Given the description of an element on the screen output the (x, y) to click on. 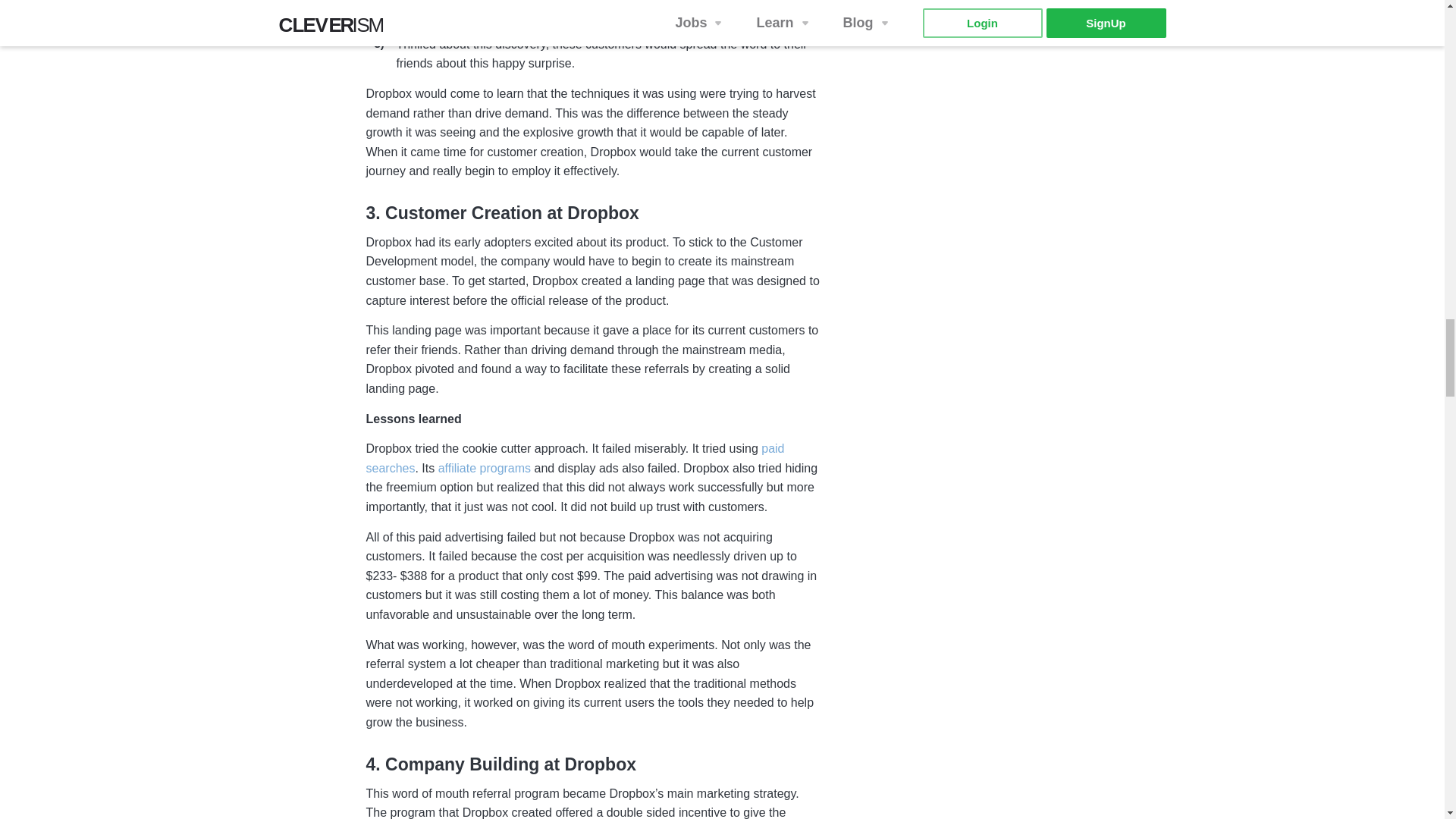
affiliate programs (484, 468)
paid searches (574, 459)
